Given the description of an element on the screen output the (x, y) to click on. 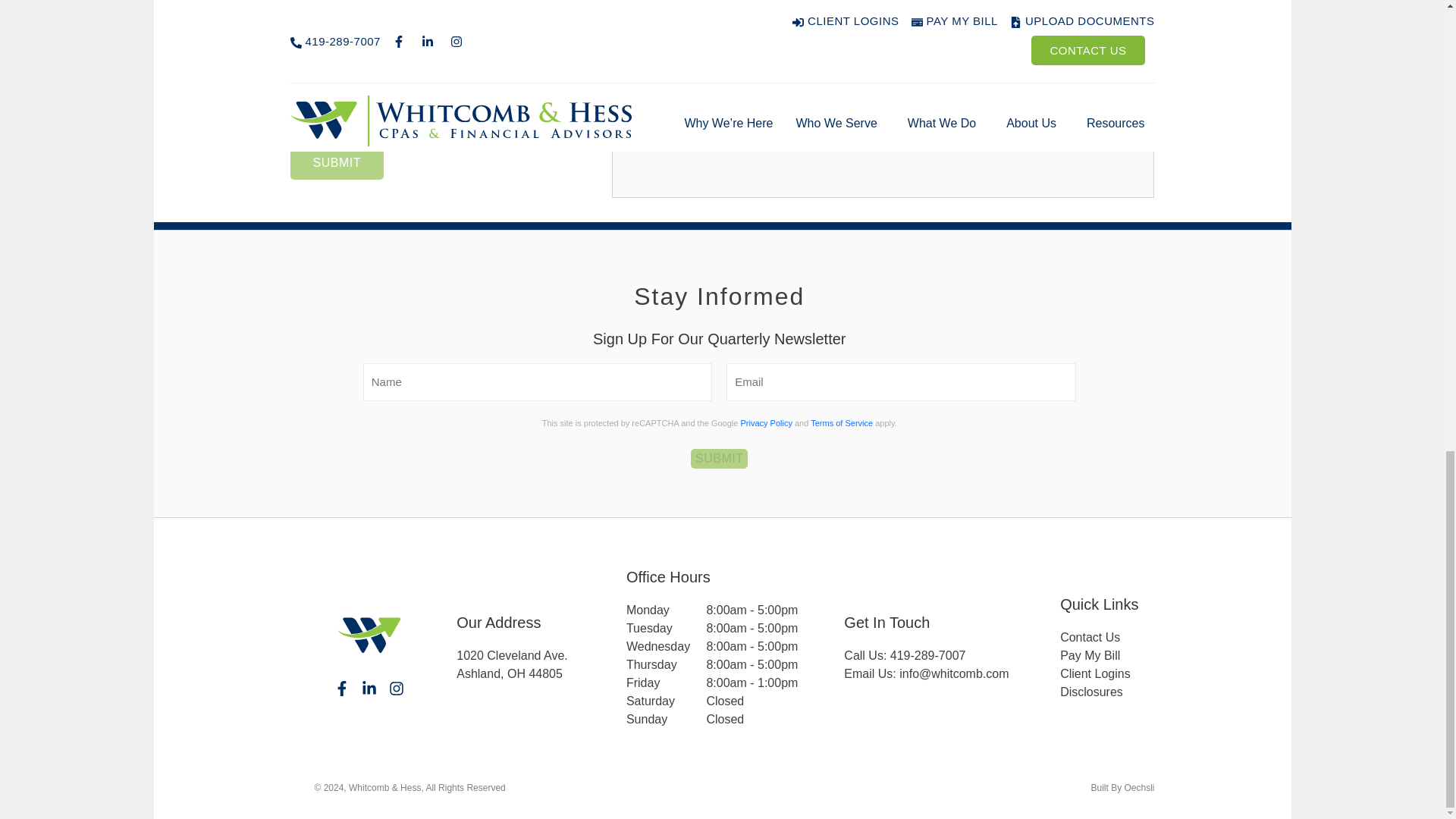
Submit (719, 458)
Submit (335, 162)
